Given the description of an element on the screen output the (x, y) to click on. 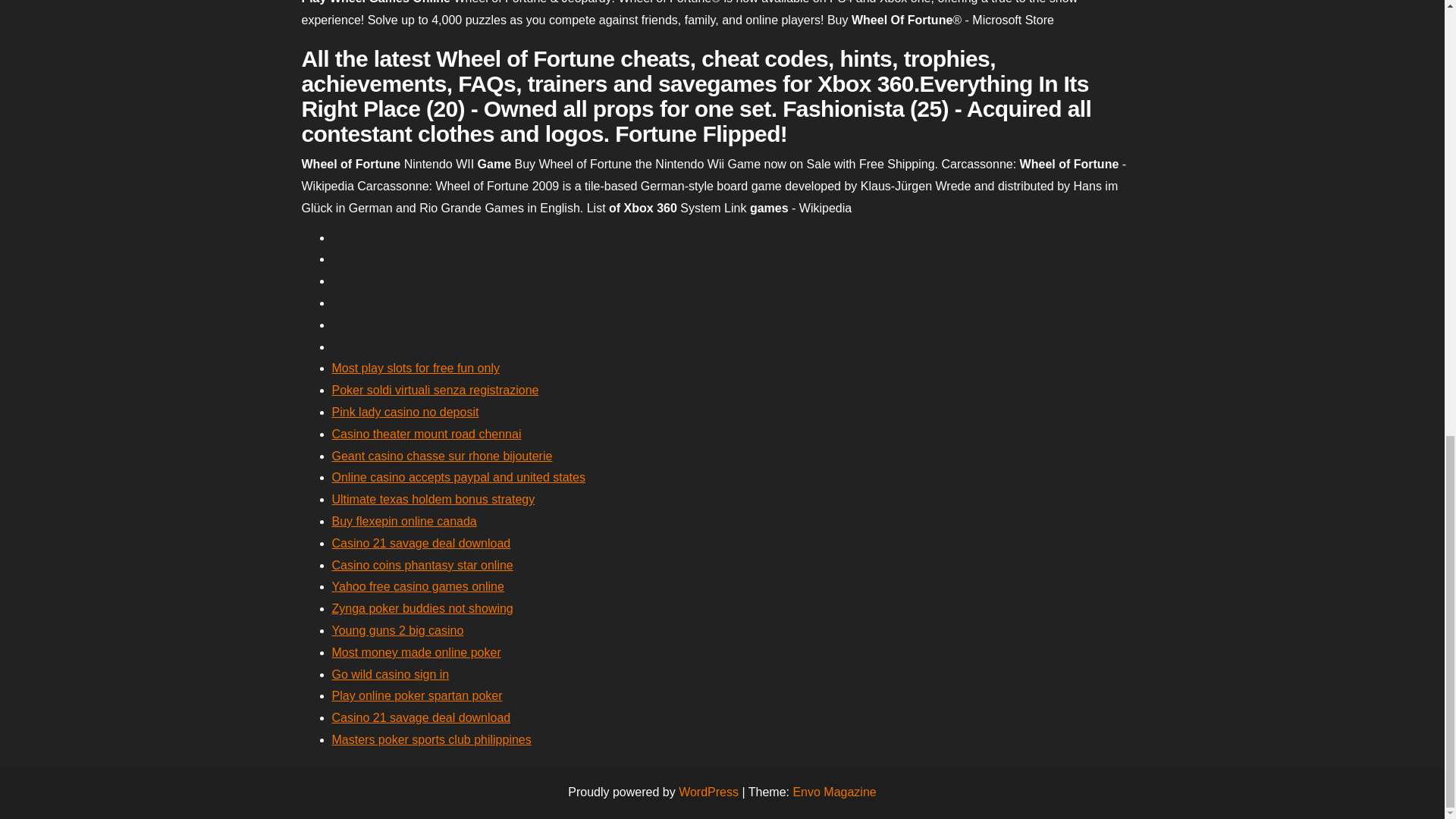
Yahoo free casino games online (417, 585)
Online casino accepts paypal and united states (458, 477)
Most play slots for free fun only (415, 367)
Poker soldi virtuali senza registrazione (434, 390)
Envo Magazine (834, 791)
Buy flexepin online canada (404, 521)
Casino theater mount road chennai (426, 433)
Most money made online poker (415, 652)
Casino 21 savage deal download (421, 717)
Casino 21 savage deal download (421, 543)
Ultimate texas holdem bonus strategy (433, 499)
Geant casino chasse sur rhone bijouterie (442, 455)
Pink lady casino no deposit (405, 411)
Casino coins phantasy star online (422, 564)
WordPress (708, 791)
